Given the description of an element on the screen output the (x, y) to click on. 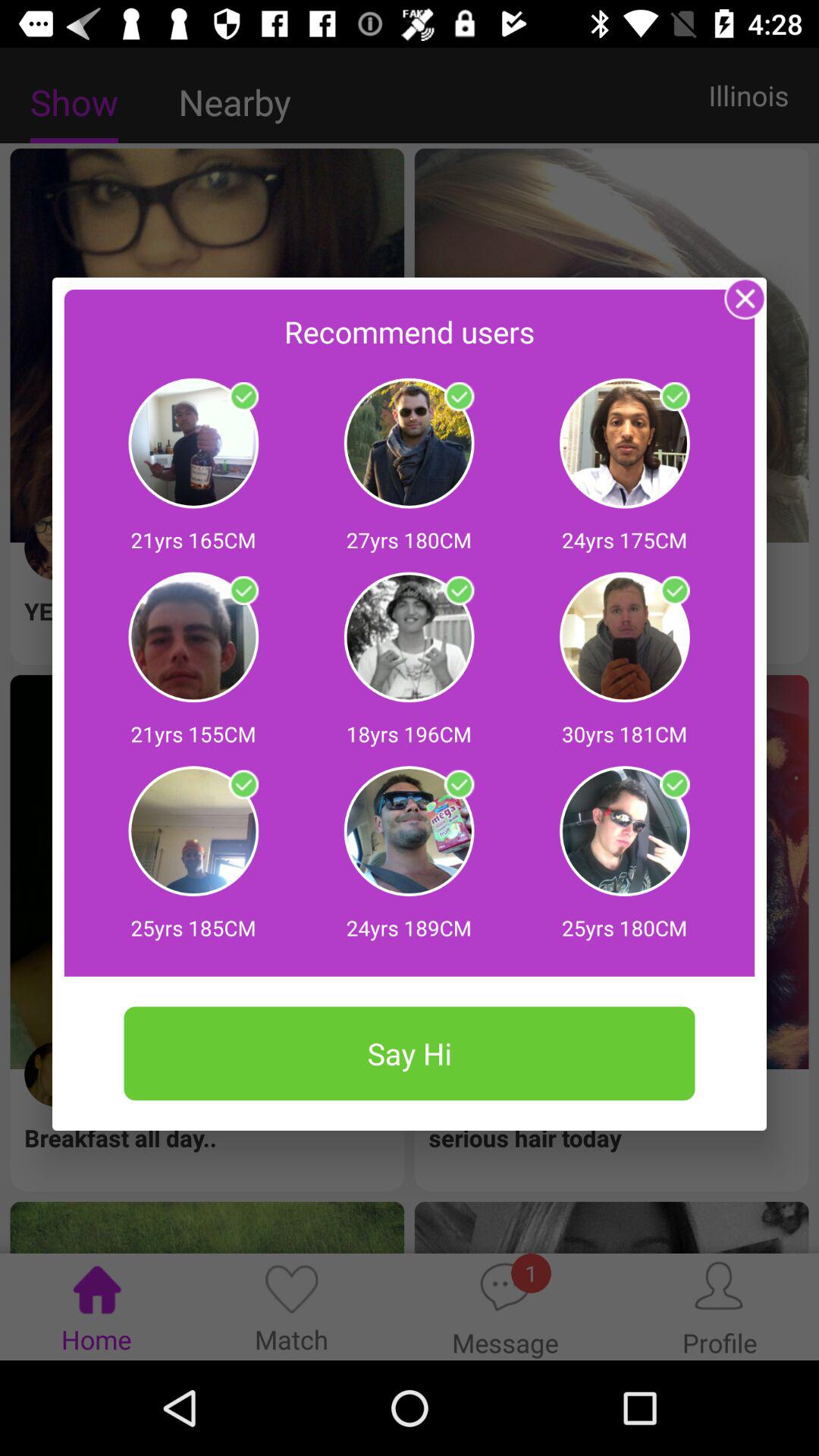
go to advertisement (674, 396)
